Given the description of an element on the screen output the (x, y) to click on. 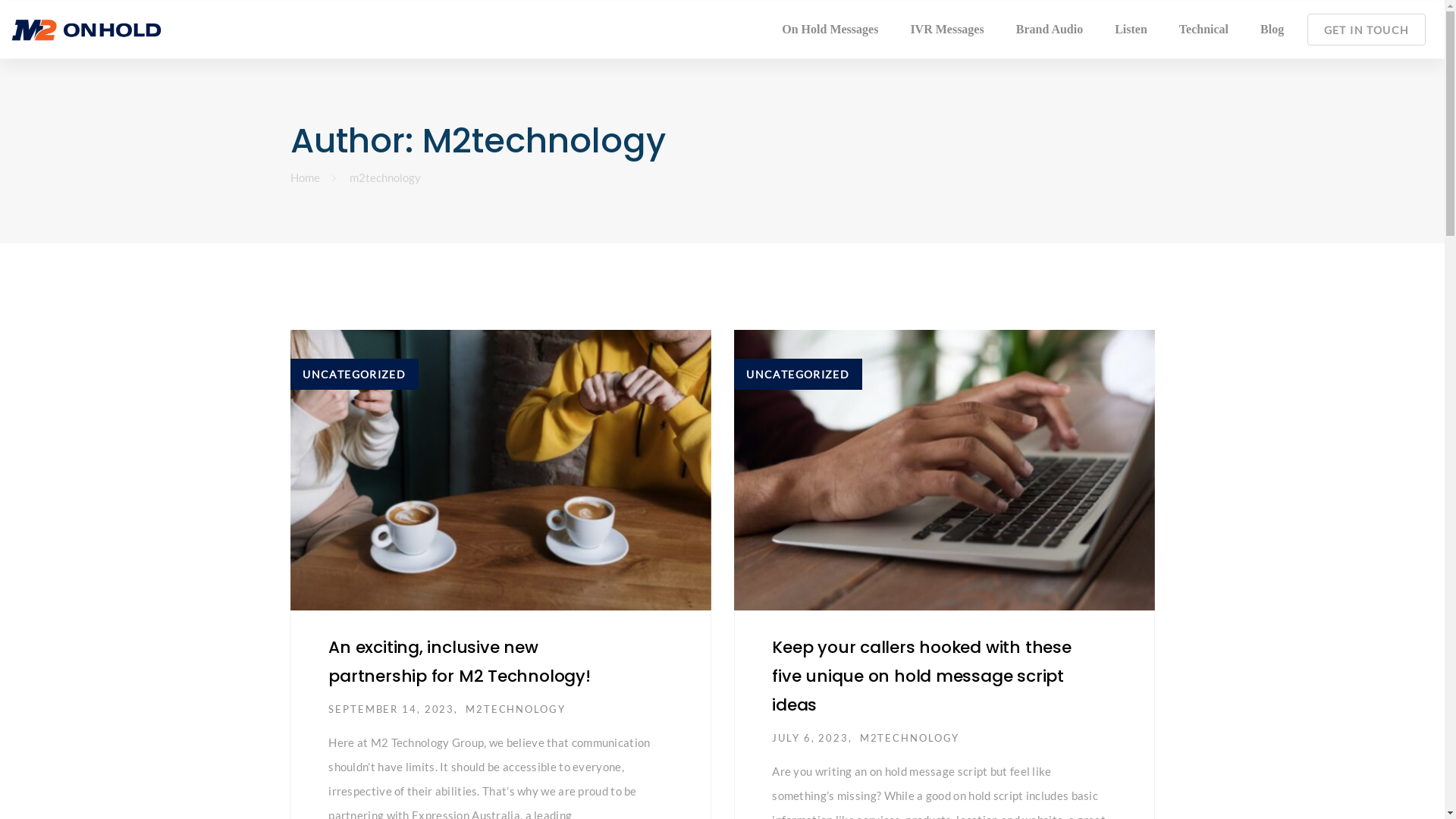
CREATIVE CANARY Element type: text (1100, 785)
An exciting, inclusive new partnership for M2 Technology! Element type: text (459, 661)
Listen Element type: text (1130, 29)
UNCATEGORIZED Element type: text (353, 374)
M2 Technology Element type: text (892, 618)
IVR Messages Element type: text (946, 29)
Blog Element type: text (1271, 29)
1800 802 822 Element type: text (1117, 694)
UNCATEGORIZED Element type: text (798, 374)
Home Element type: text (304, 177)
GET IN TOUCH Element type: text (1366, 29)
Privacy Policy Element type: text (603, 785)
Technical Element type: text (1203, 29)
M2TECHNOLOGY Element type: text (515, 709)
On Hold Messages Element type: text (829, 29)
11a Aldous Place,
Booragoon WA 6154 Element type: text (1099, 632)
M2-Logo-01-1 Element type: hover (384, 559)
CommTrak CRM Element type: text (888, 644)
M2TECHNOLOGY Element type: text (909, 737)
onquevision Element type: text (900, 671)
Terms & Conditions Element type: text (507, 785)
sales@m2onhold.com.au Element type: text (1089, 669)
Brand Audio Element type: text (1049, 29)
